Given the description of an element on the screen output the (x, y) to click on. 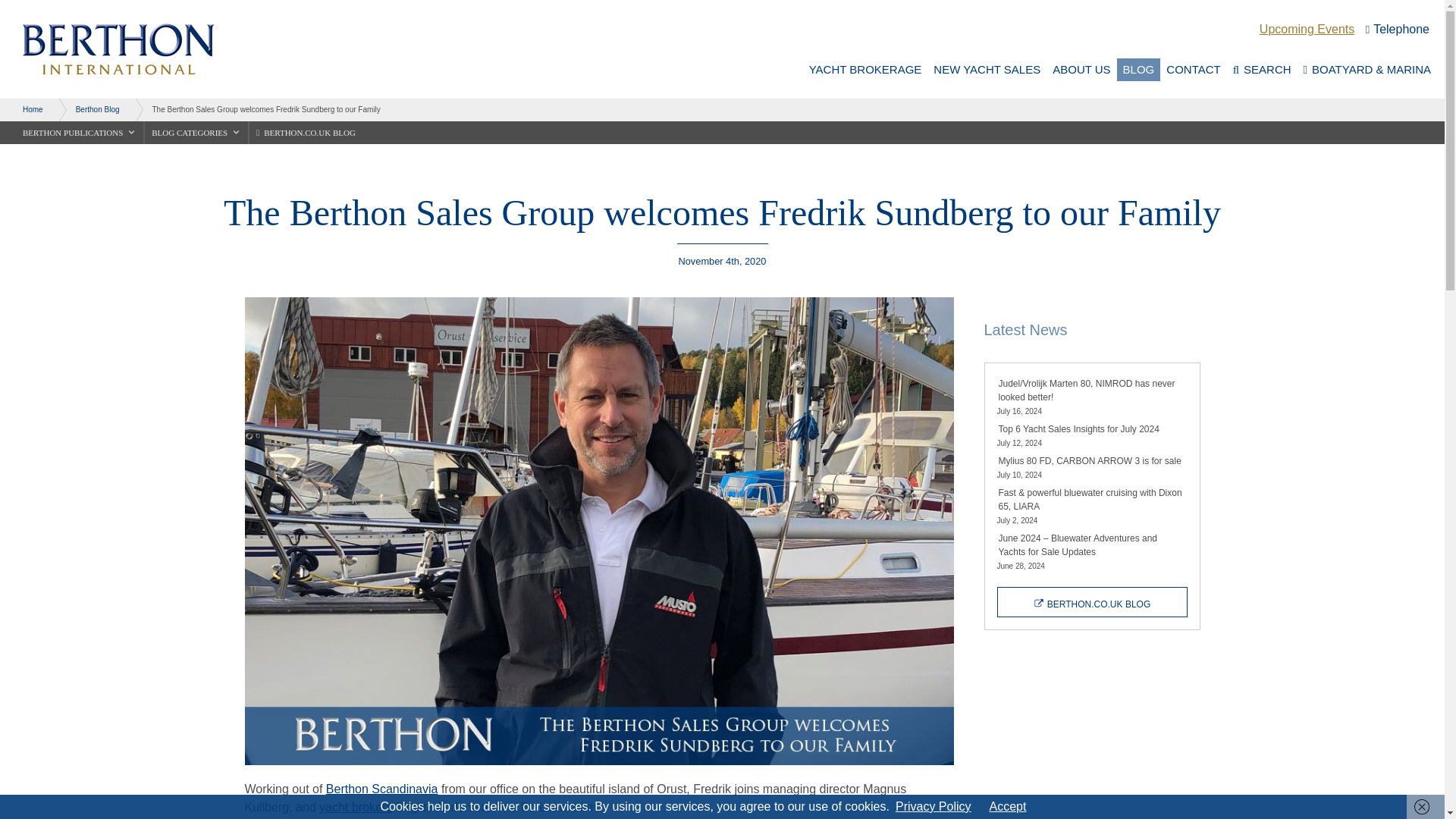
Logo (110, 47)
Berthon Blog (1090, 601)
Berthon Blog (90, 109)
ABOUT US (1081, 69)
BLOG (1138, 69)
NEW YACHT SALES (986, 69)
SEARCH (1262, 69)
Telephone (1397, 29)
BERTHON PUBLICATIONS (78, 132)
YACHT BROKERAGE (865, 69)
CONTACT (1192, 69)
Home (25, 109)
Upcoming Events (1306, 29)
Upcoming Events (1306, 29)
